Given the description of an element on the screen output the (x, y) to click on. 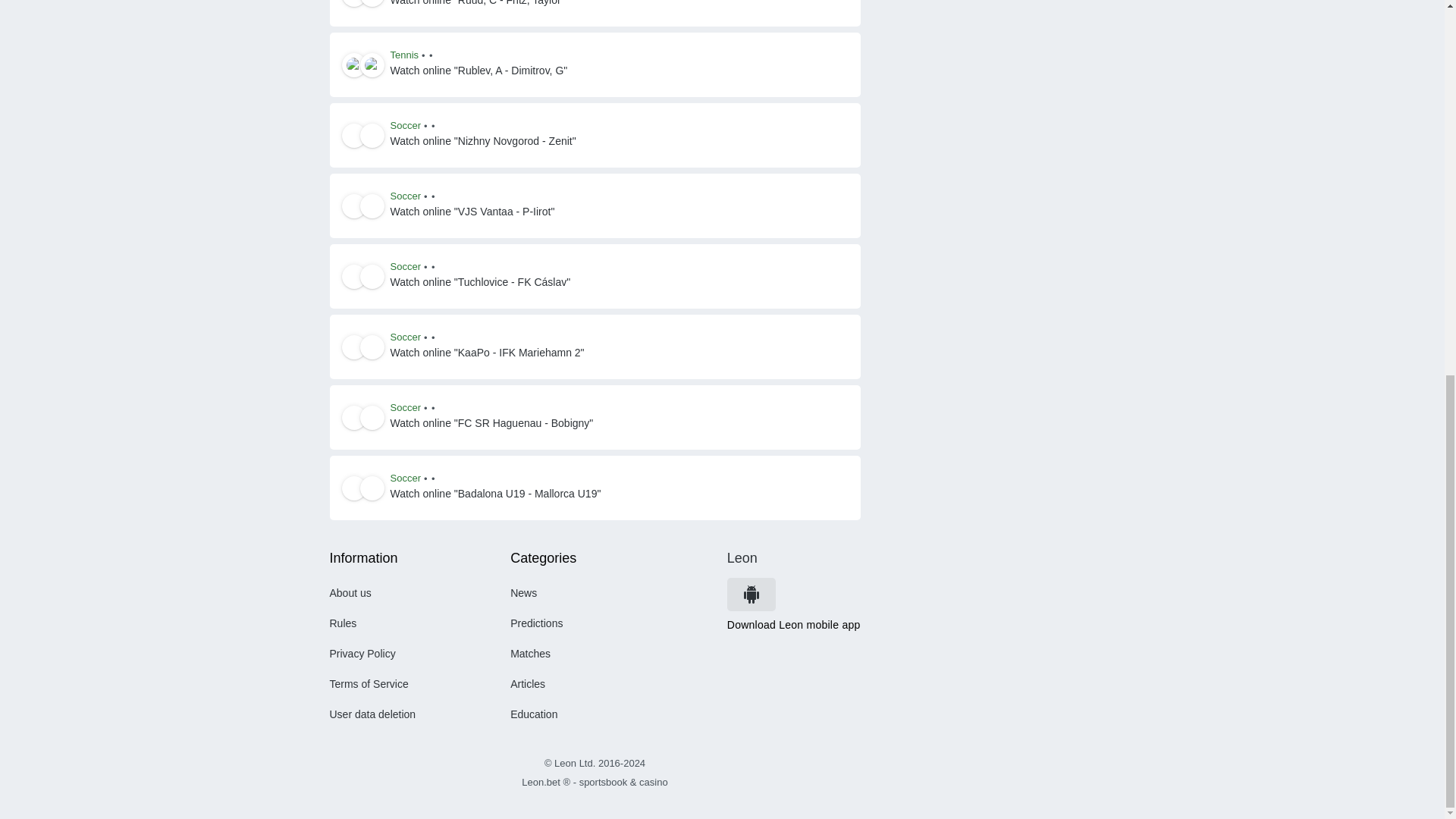
Soccer (405, 125)
Watch online "Rublev, A - Dimitrov, G" (478, 70)
Watch online "Ruud, C - Fritz, Taylor" (477, 4)
Tennis (404, 55)
